Given the description of an element on the screen output the (x, y) to click on. 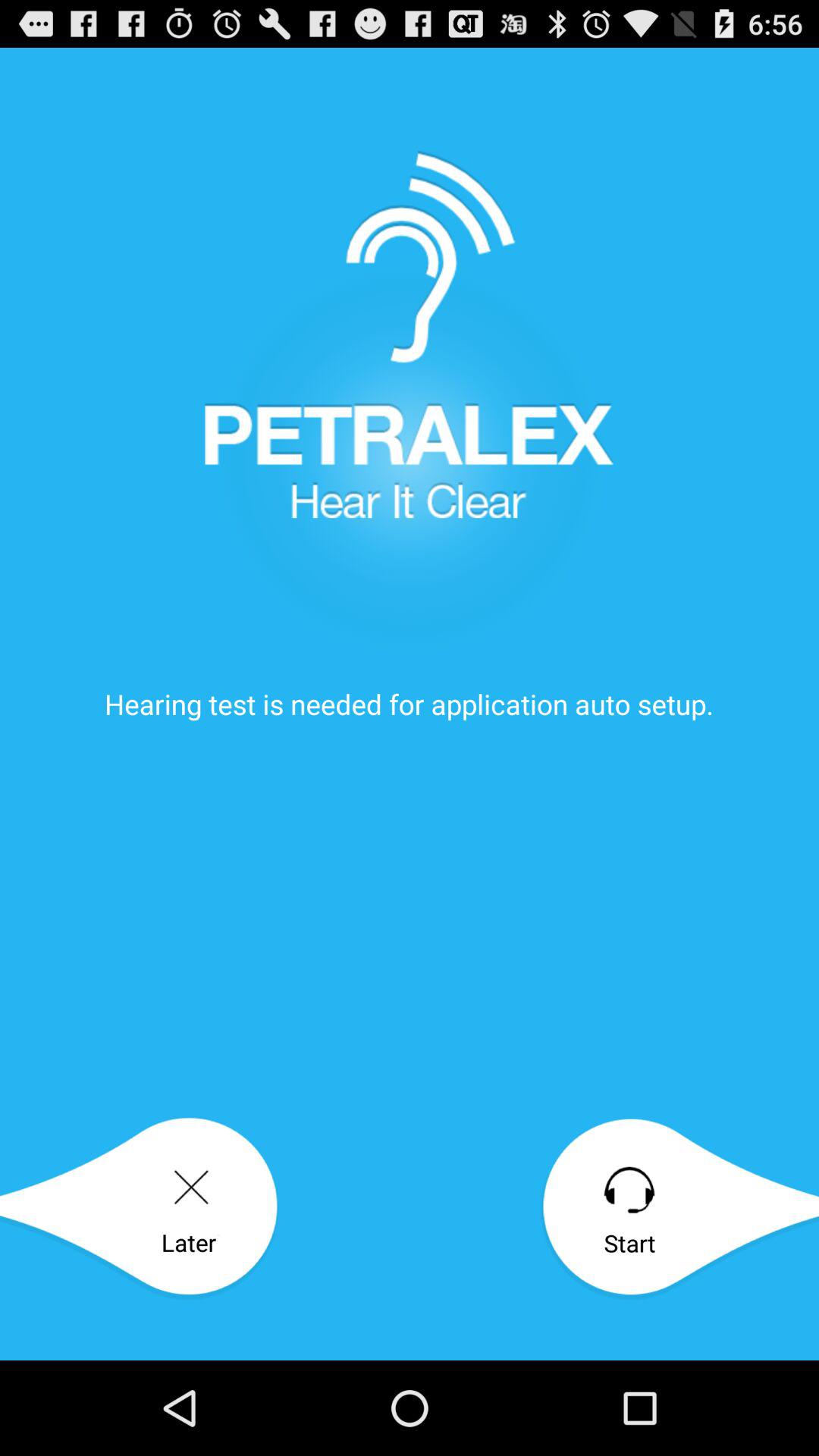
click icon next to the start icon (139, 1208)
